Given the description of an element on the screen output the (x, y) to click on. 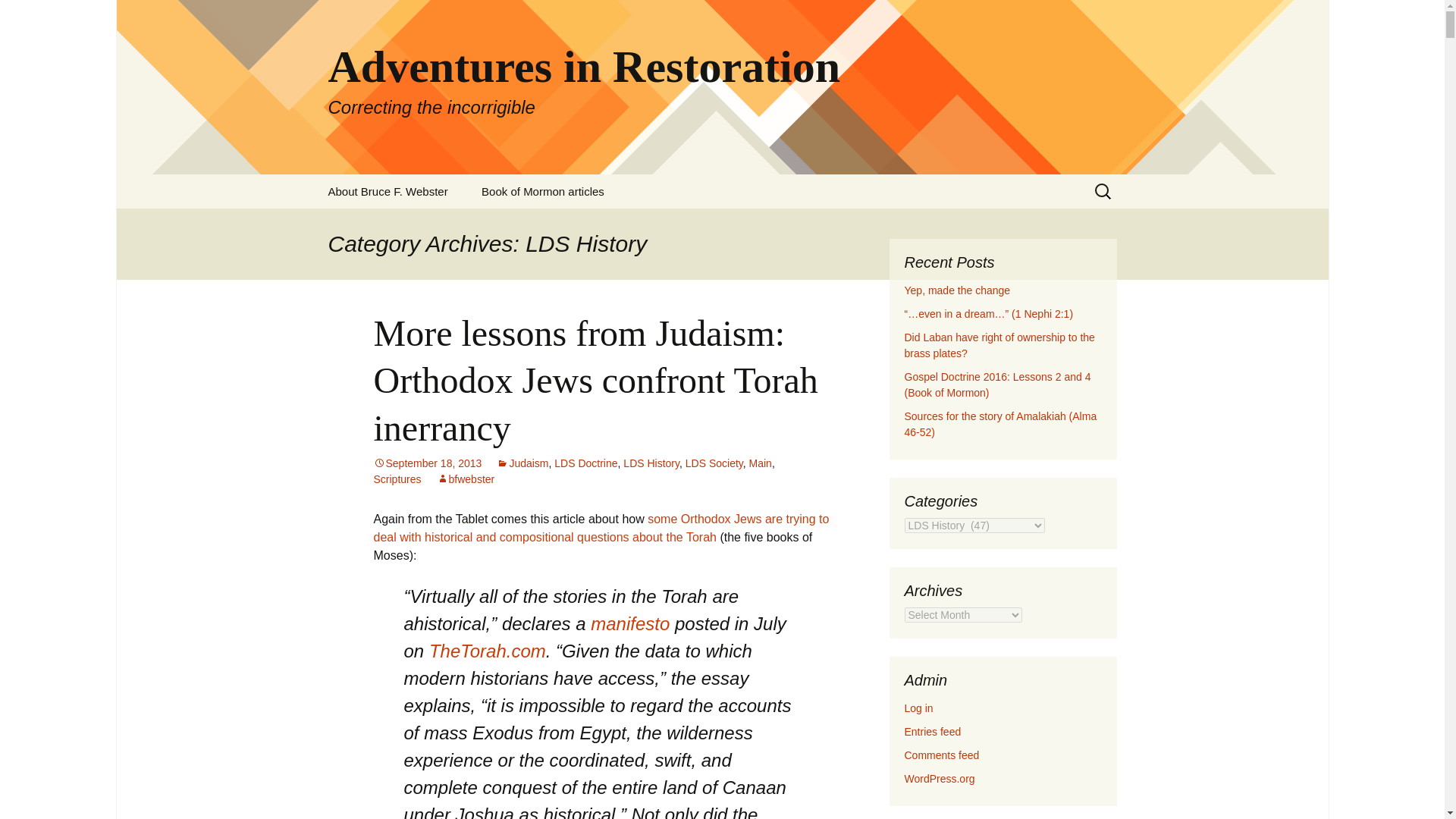
September 18, 2013 (465, 479)
About Bruce F. Webster (426, 463)
LDS Society (388, 191)
Skip to content (713, 463)
View all posts by bfwebster (18, 15)
TheTorah.com (465, 479)
manifesto (487, 650)
Book of Mormon articles (630, 623)
Scriptures (542, 191)
